Given the description of an element on the screen output the (x, y) to click on. 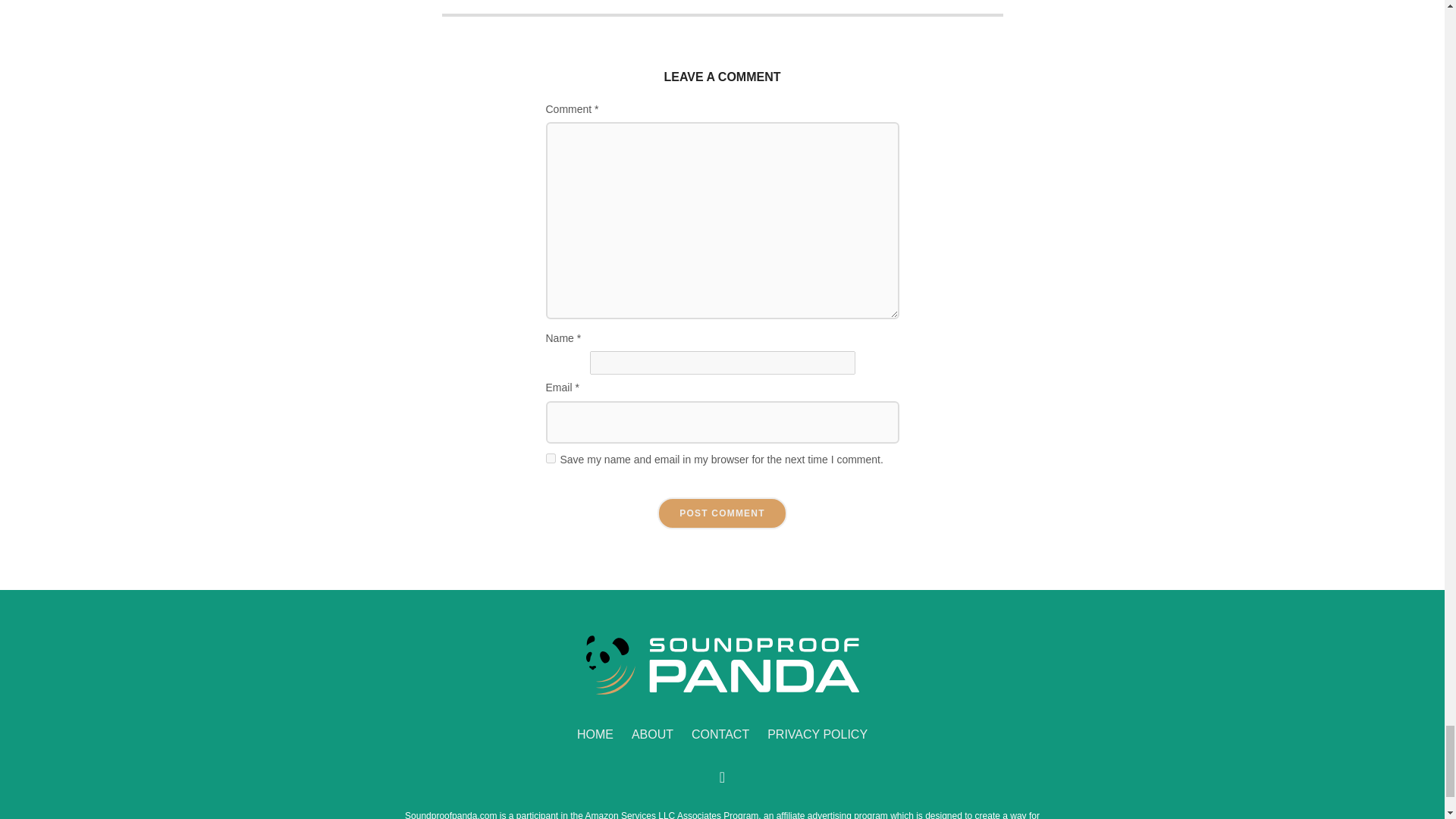
yes (551, 458)
CONTACT (720, 735)
HOME (594, 735)
PRIVACY POLICY (817, 735)
ABOUT (651, 735)
Post Comment (722, 513)
Post Comment (722, 513)
Soundproof Panda (722, 665)
